Given the description of an element on the screen output the (x, y) to click on. 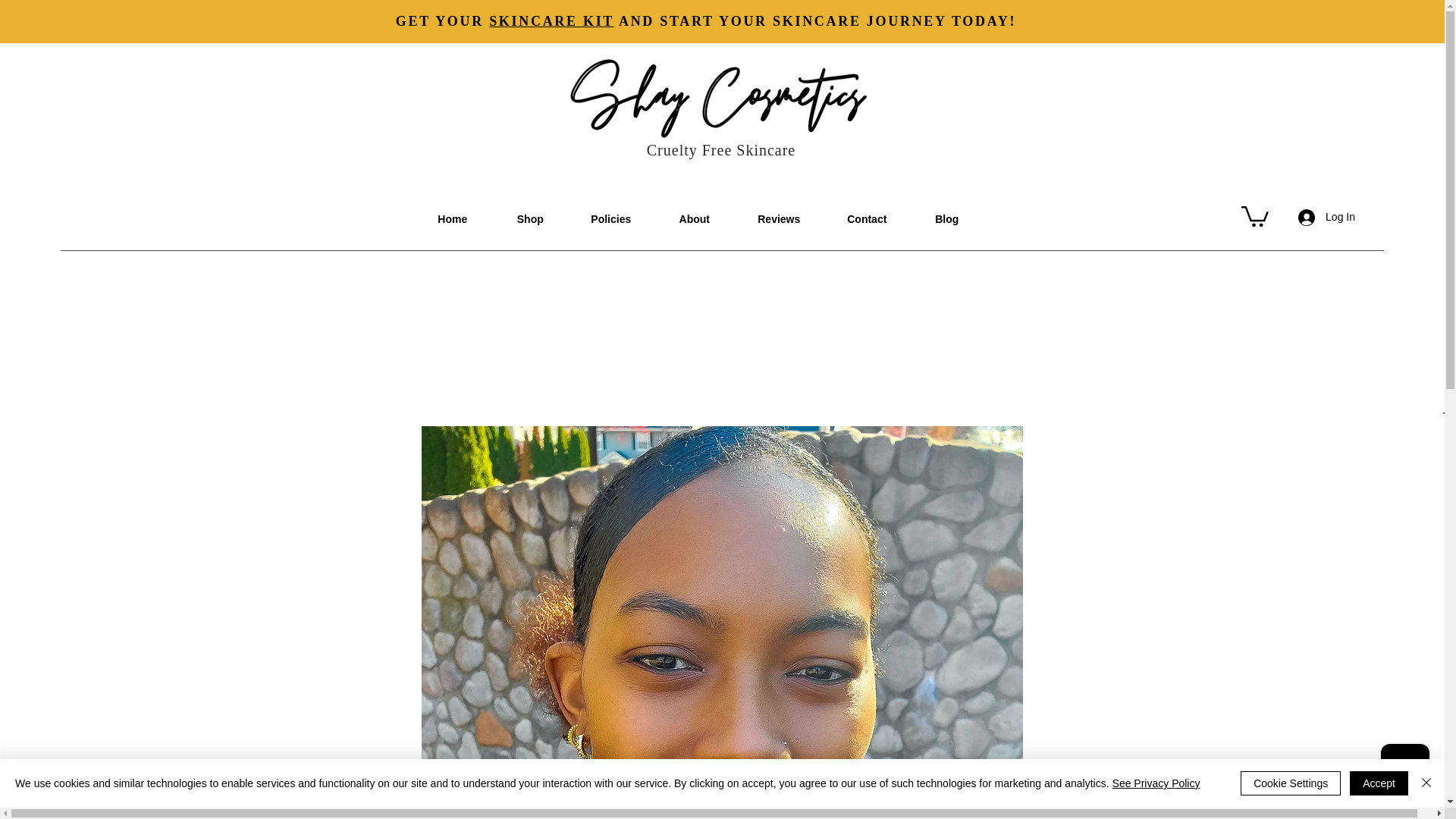
Cookie Settings (1290, 783)
See Privacy Policy (1155, 783)
Reviews (778, 219)
SKINCARE KIT (551, 20)
0 (1449, 418)
Shop (529, 219)
Wix Chat (1408, 771)
Log In (1326, 216)
0 (1254, 214)
Blog (946, 219)
Policies (610, 219)
Contact (866, 219)
Home (452, 219)
About (694, 219)
Accept (1378, 783)
